Given the description of an element on the screen output the (x, y) to click on. 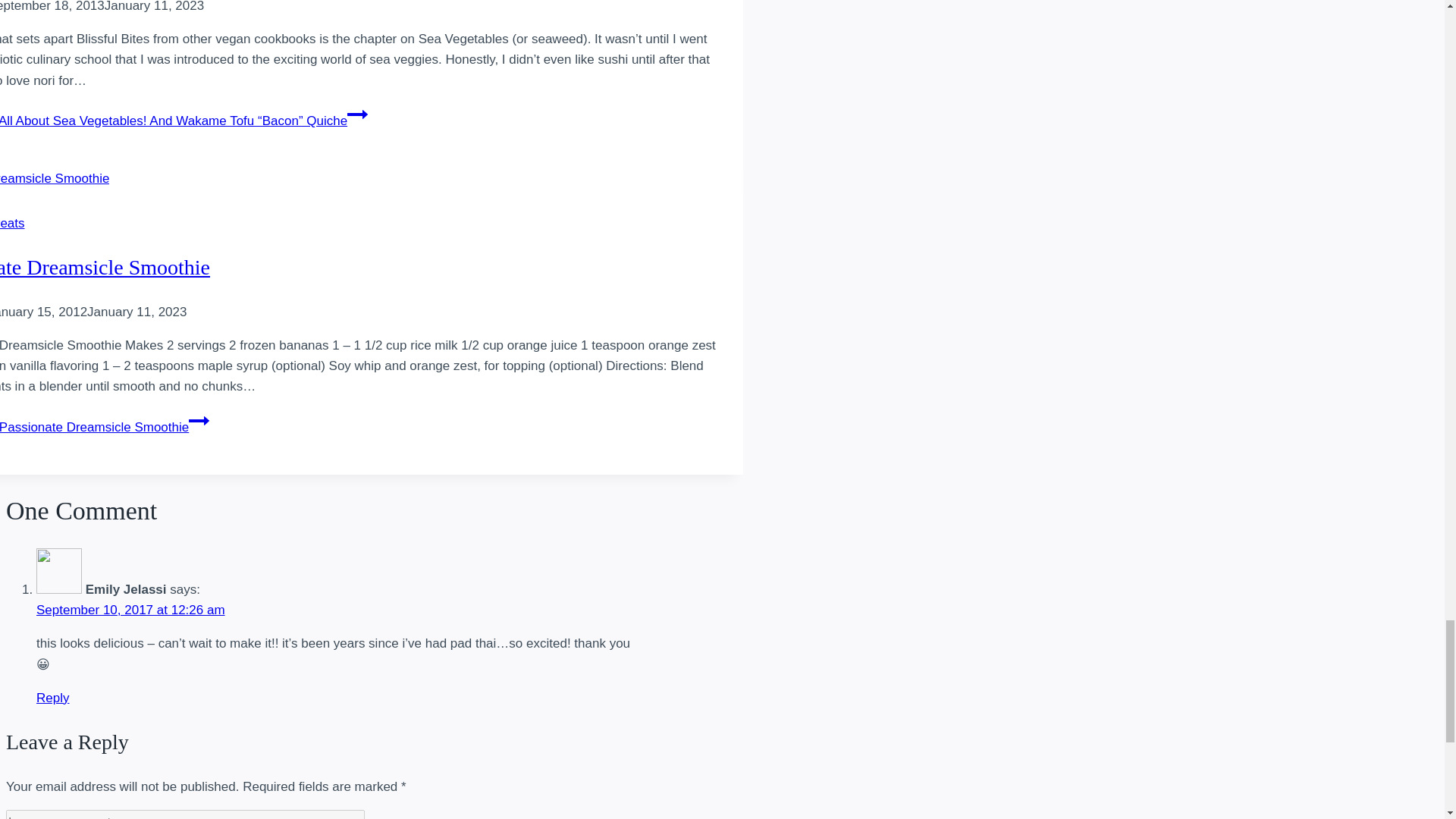
Continue (357, 114)
Continue (199, 420)
